Given the description of an element on the screen output the (x, y) to click on. 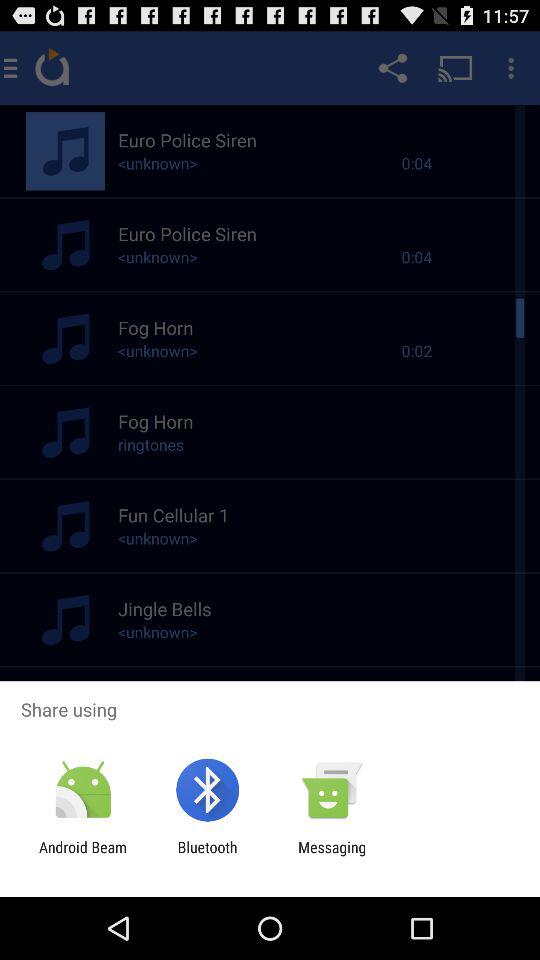
swipe until the android beam icon (83, 856)
